Given the description of an element on the screen output the (x, y) to click on. 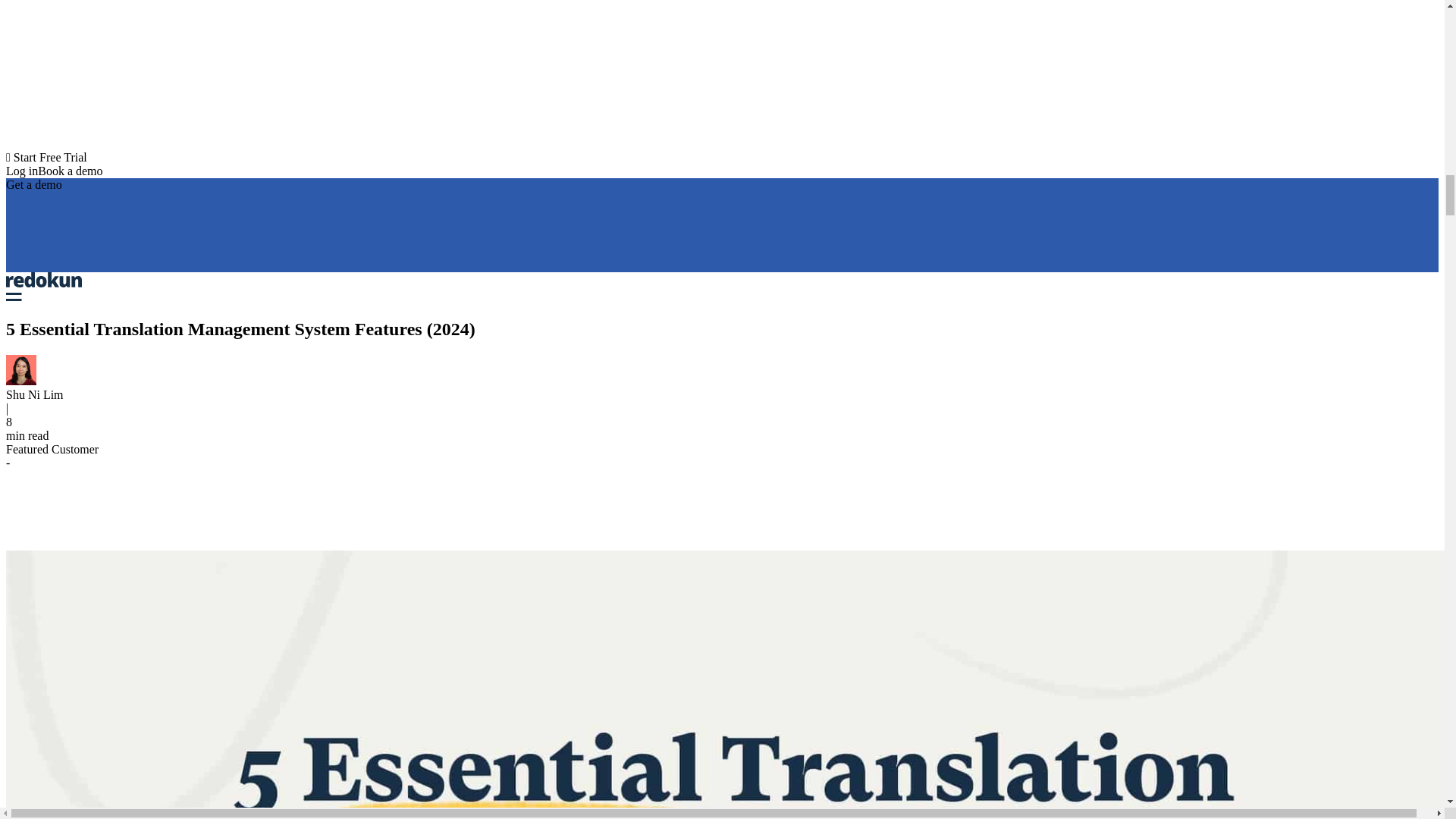
Log in (21, 170)
